Given the description of an element on the screen output the (x, y) to click on. 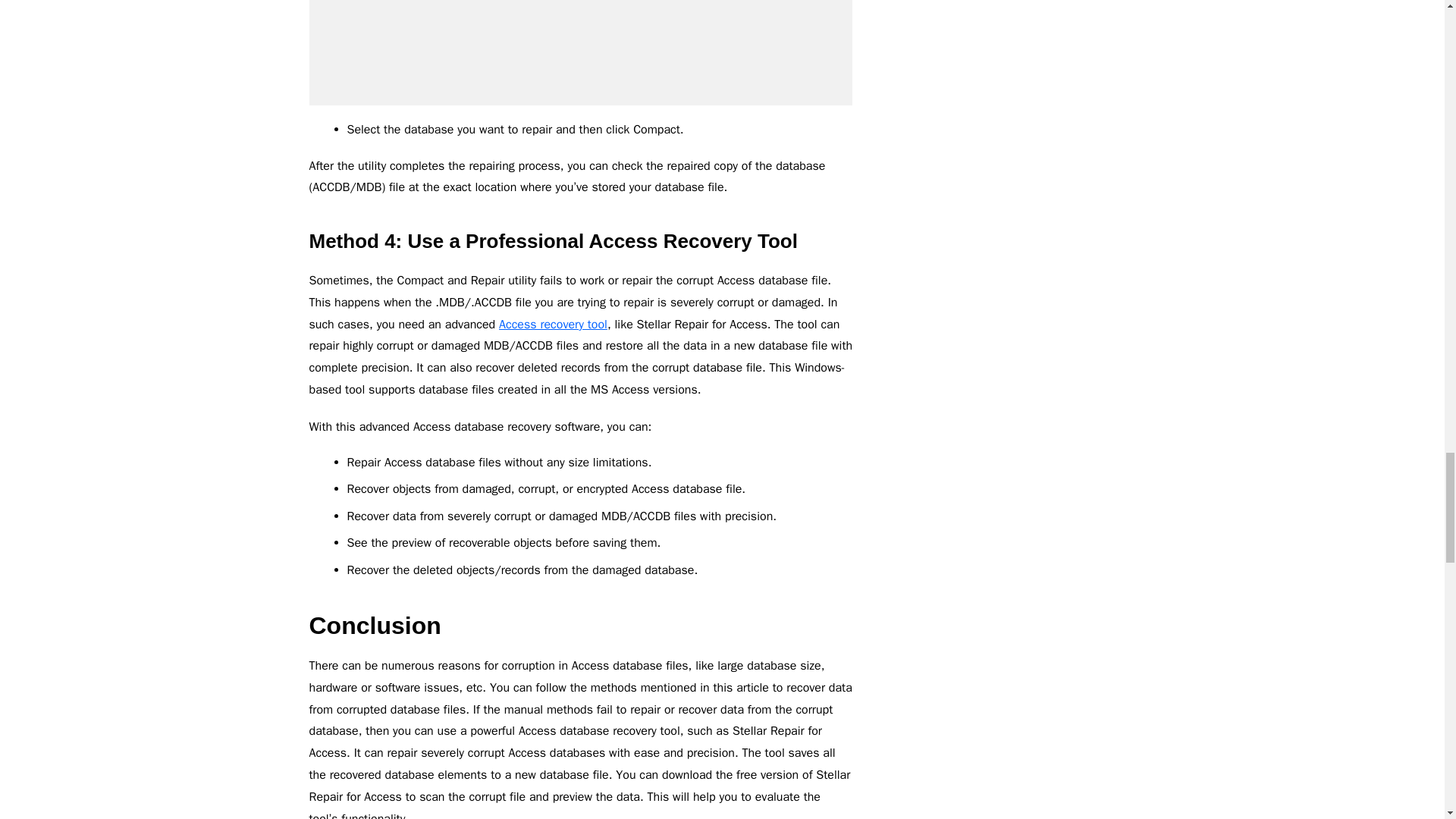
Access recovery tool (553, 324)
